Given the description of an element on the screen output the (x, y) to click on. 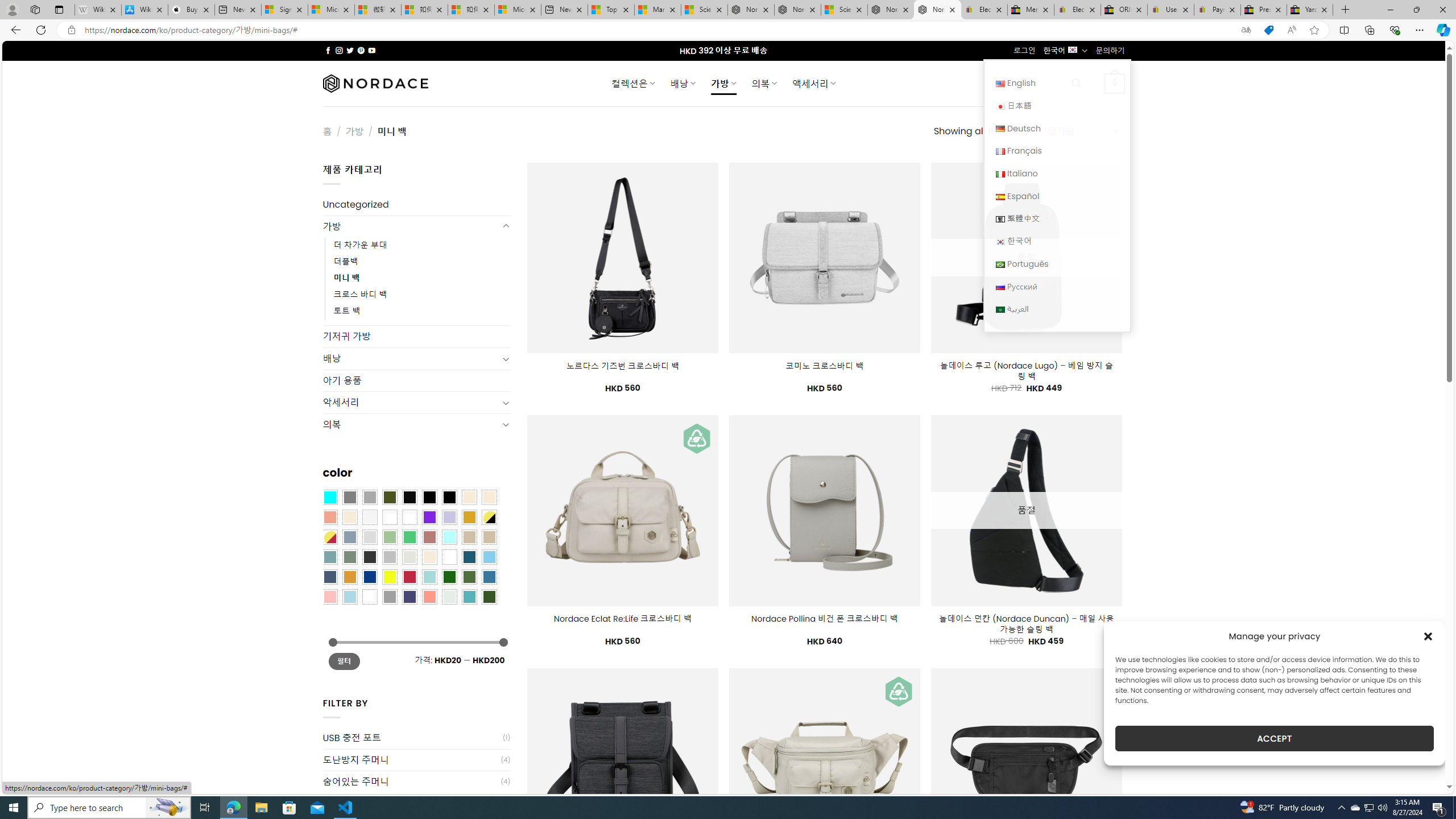
Follow on Twitter (349, 50)
Follow on Pinterest (360, 50)
Uncategorized (416, 204)
This site has coupons! Shopping in Microsoft Edge (1268, 29)
